Given the description of an element on the screen output the (x, y) to click on. 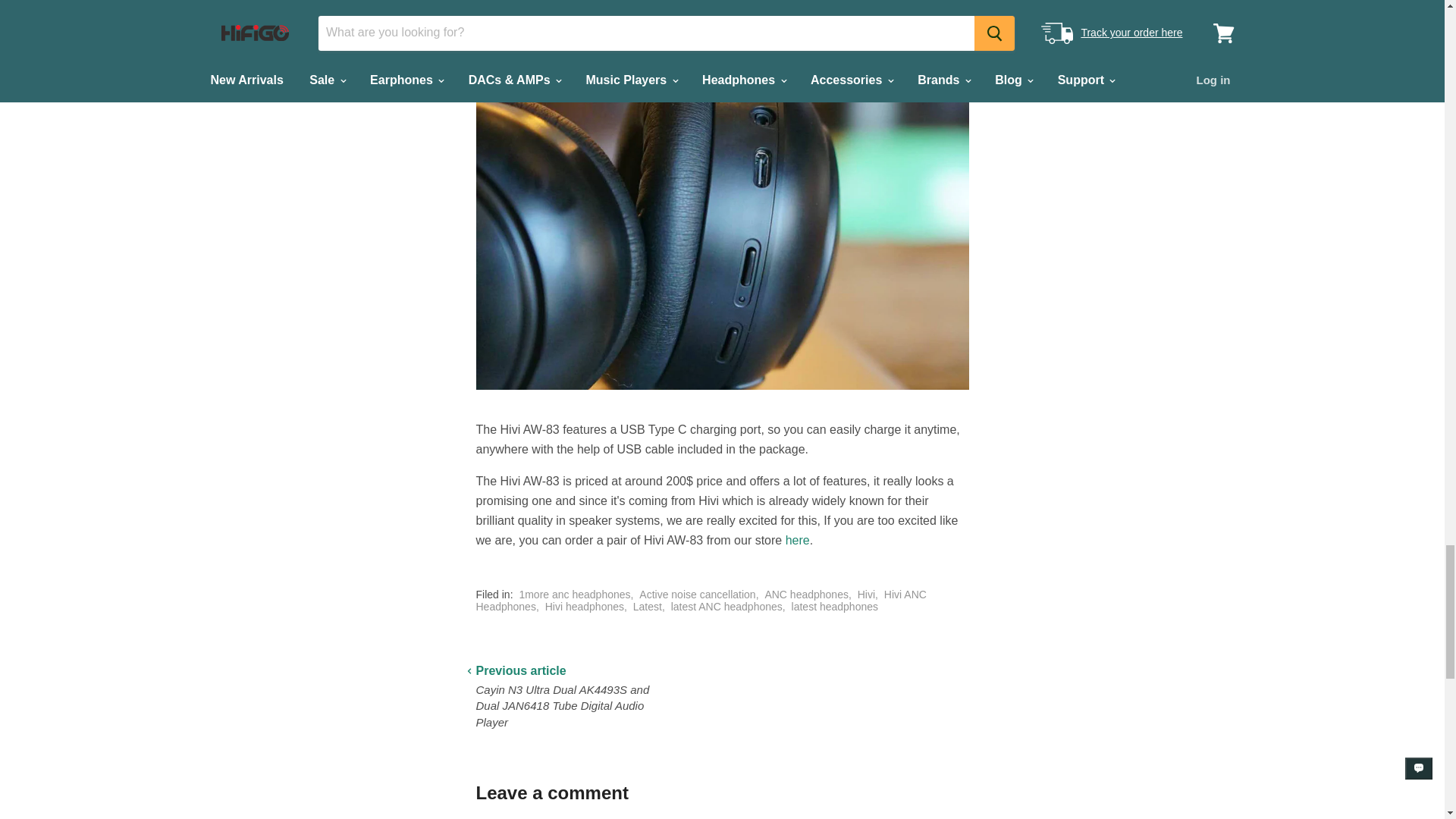
Hivi AW-83 (797, 540)
Show articles tagged Hivi (866, 594)
Show articles tagged latest ANC headphones (727, 606)
Show articles tagged latest headphones (834, 606)
Show articles tagged Hivi headphones (584, 606)
Show articles tagged 1more anc headphones (574, 594)
Show articles tagged Hivi ANC Headphones (701, 600)
Show articles tagged Active noise cancellation (697, 594)
Show articles tagged ANC headphones (806, 594)
Show articles tagged Latest (647, 606)
